Given the description of an element on the screen output the (x, y) to click on. 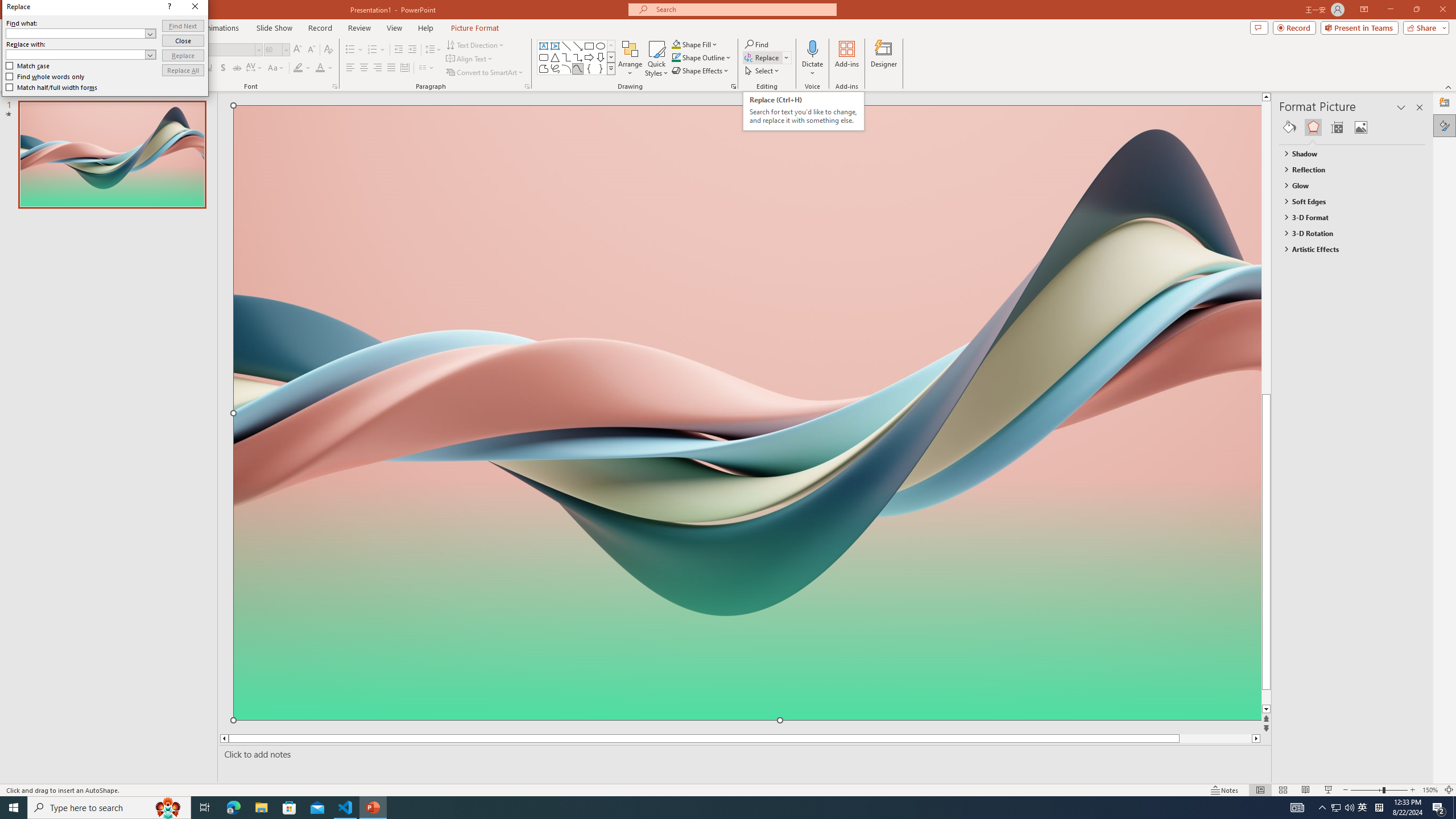
Share (1423, 27)
Freeform: Shape (543, 68)
Find... (756, 44)
Curve (577, 68)
Fill & Line (1288, 126)
Class: MsoCommandBar (728, 789)
Shape Outline Blue, Accent 1 (675, 56)
Artistic Effects (1347, 248)
Isosceles Triangle (554, 57)
Page up (1287, 247)
Align Left (349, 67)
Match case (27, 65)
Oval (600, 45)
Arrange (630, 58)
